Given the description of an element on the screen output the (x, y) to click on. 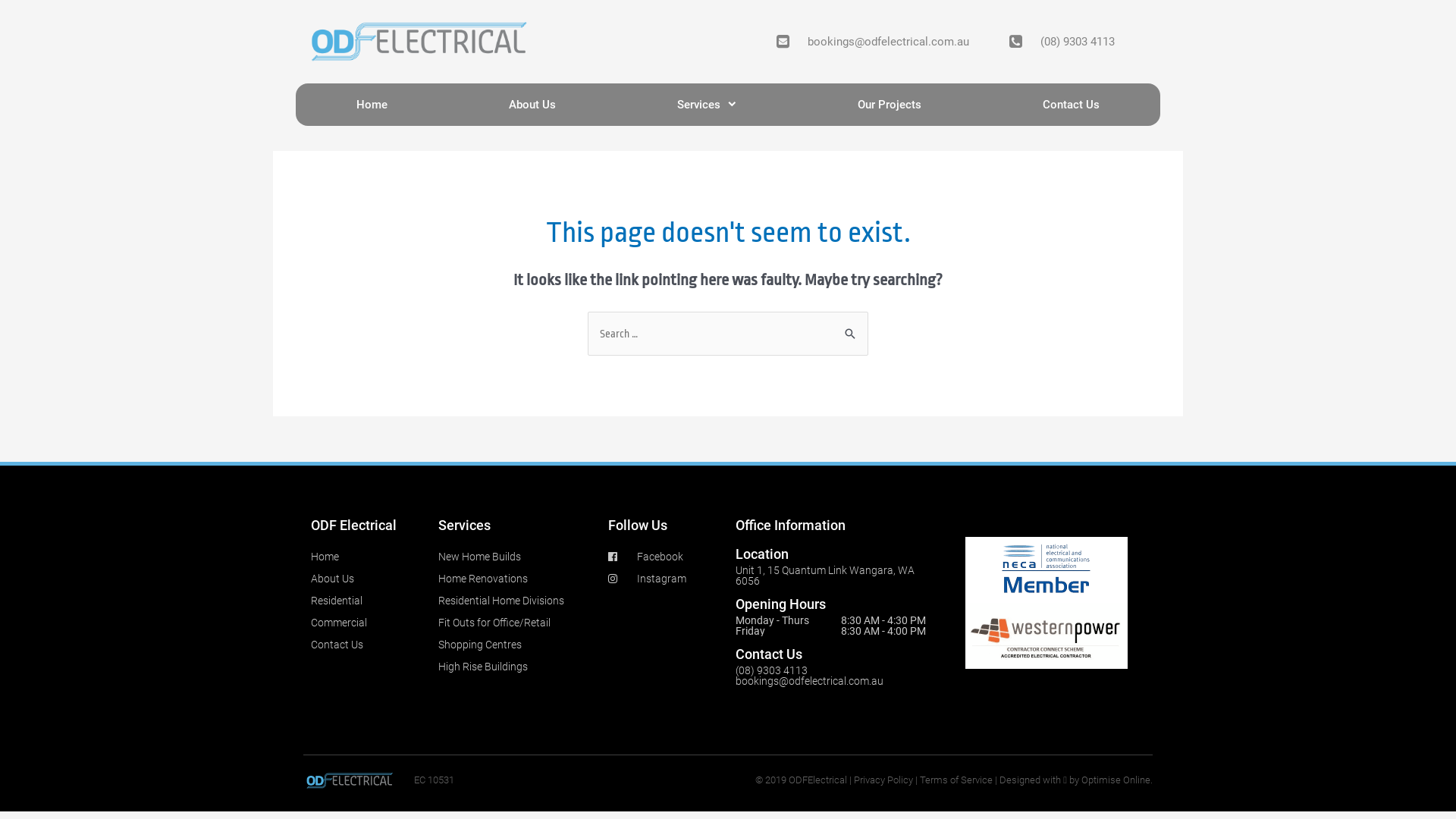
About Us Element type: text (366, 578)
NECA-Member-Image Element type: hover (1046, 569)
bookings@odfelectrical.com.au Element type: text (871, 41)
(08) 9303 4113 Element type: text (771, 670)
Shopping Centres Element type: text (515, 644)
Contact Us Element type: text (1071, 104)
Optimise Online Element type: text (1115, 779)
Commercial Element type: text (366, 622)
Home Element type: text (366, 556)
New Home Builds Element type: text (515, 556)
bookings@odfelectrical.com.au Element type: text (809, 680)
Contact Us Element type: text (366, 644)
western power Contract Connect image Element type: hover (1046, 635)
Services Element type: text (706, 104)
(08) 9303 4113 Element type: text (1060, 41)
Facebook Element type: text (664, 556)
Terms of Service Element type: text (955, 779)
Residential Element type: text (366, 600)
Home Element type: text (371, 104)
High Rise Buildings Element type: text (515, 666)
About Us Element type: text (532, 104)
Home Renovations Element type: text (515, 578)
Fit Outs for Office/Retail Element type: text (515, 622)
Our Projects Element type: text (889, 104)
Residential Home Divisions Element type: text (515, 600)
Search Element type: text (851, 331)
Instagram Element type: text (664, 578)
Privacy Policy Element type: text (883, 779)
